Given the description of an element on the screen output the (x, y) to click on. 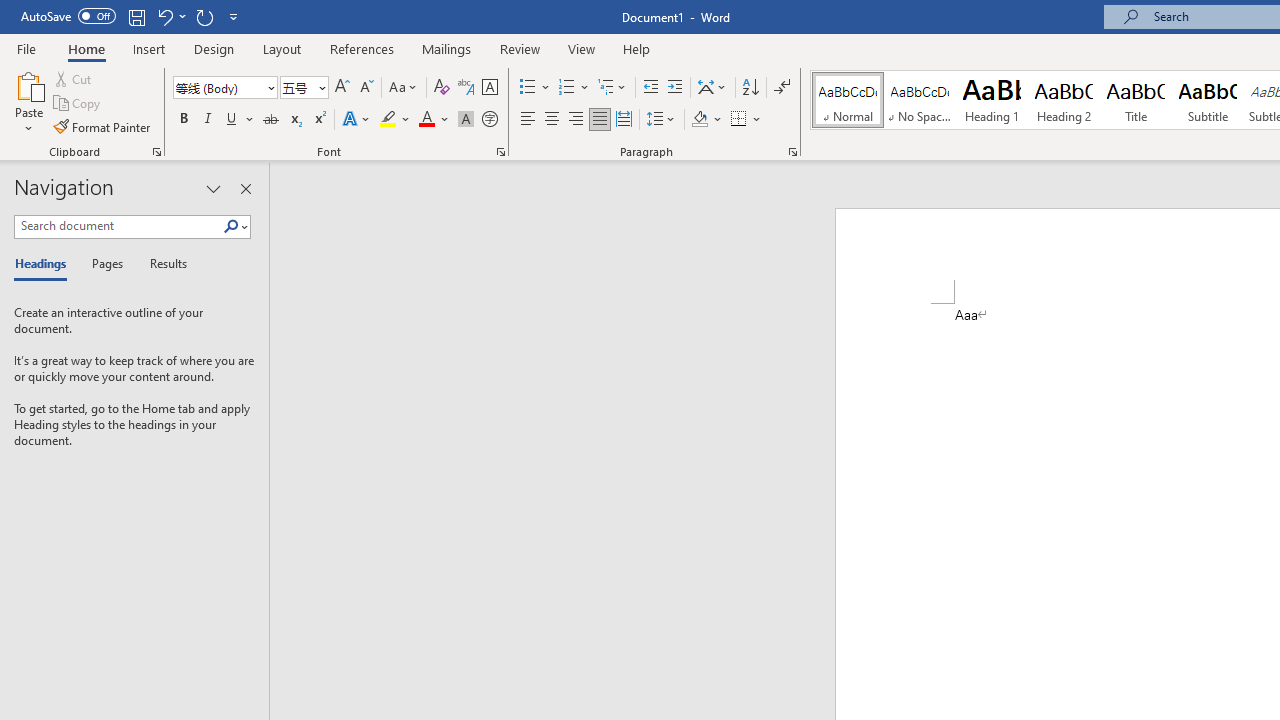
Undo AutoCorrect (170, 15)
